Given the description of an element on the screen output the (x, y) to click on. 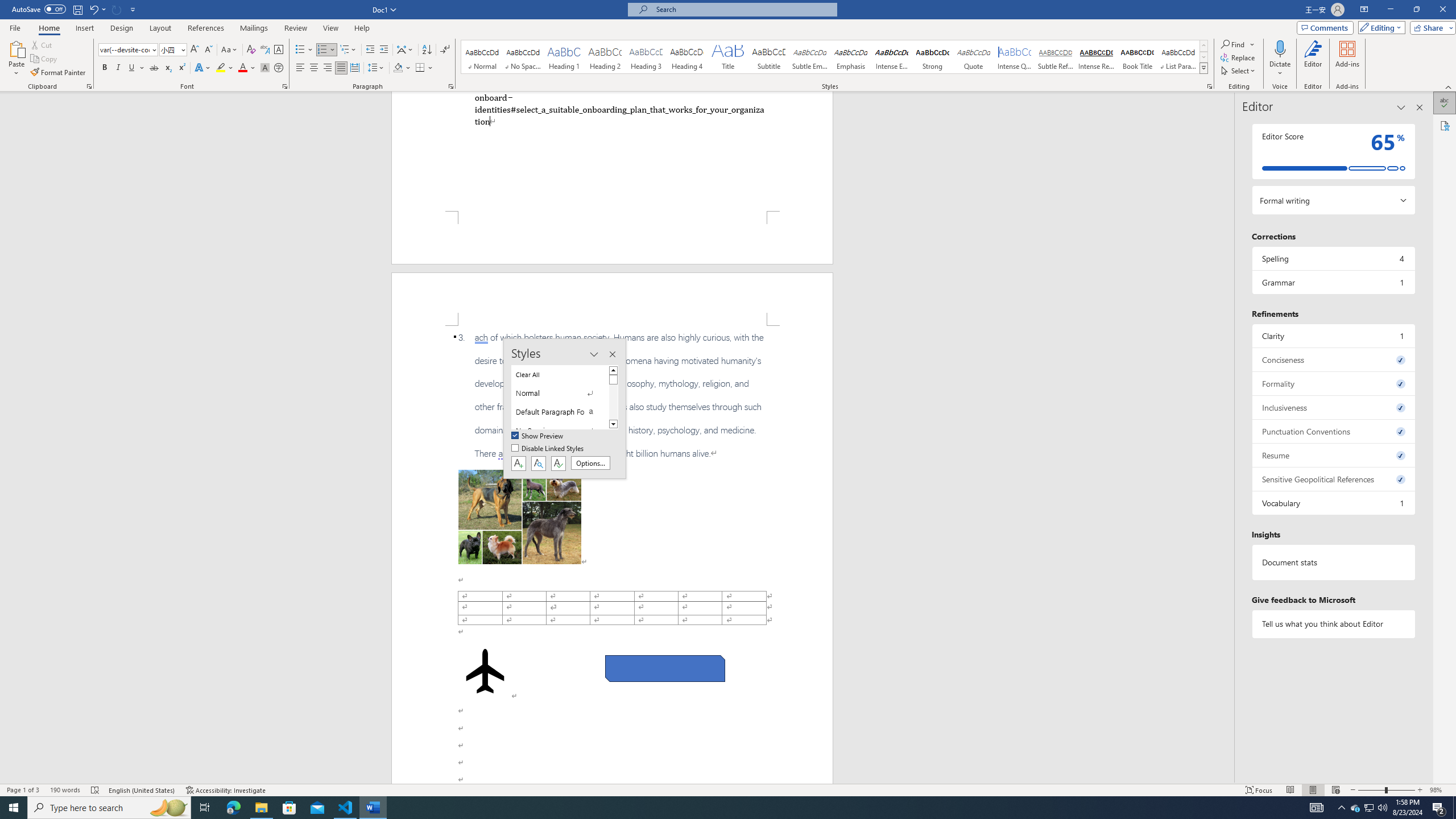
Center (313, 67)
Editor (1444, 102)
Align Left (300, 67)
Font (124, 49)
Tell us what you think about Editor (1333, 624)
Mailings (253, 28)
Styles (1203, 67)
Row up (1203, 45)
Header -Section 1- (611, 298)
Grammar, 1 issue. Press space or enter to review items. (1333, 282)
Strikethrough (154, 67)
Enclose Characters... (278, 67)
Restore Down (1416, 9)
Grow Font (193, 49)
